Given the description of an element on the screen output the (x, y) to click on. 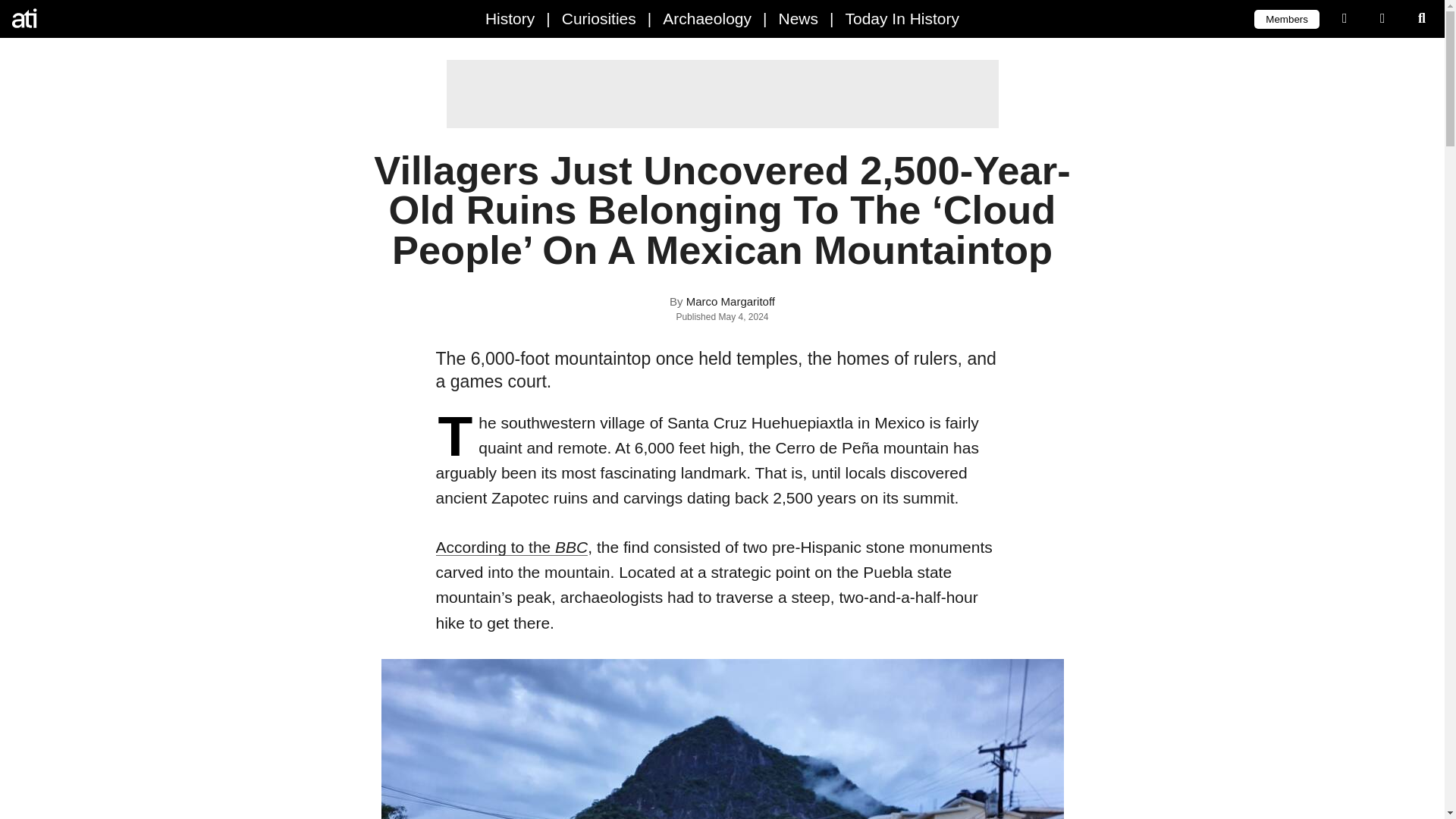
All That's Interesting (75, 18)
Today In History (901, 18)
History (510, 18)
Archaeology (706, 18)
According to the BBC (511, 547)
Members (1286, 18)
Curiosities (598, 18)
Marco Margaritoff (729, 300)
News (798, 18)
